Given the description of an element on the screen output the (x, y) to click on. 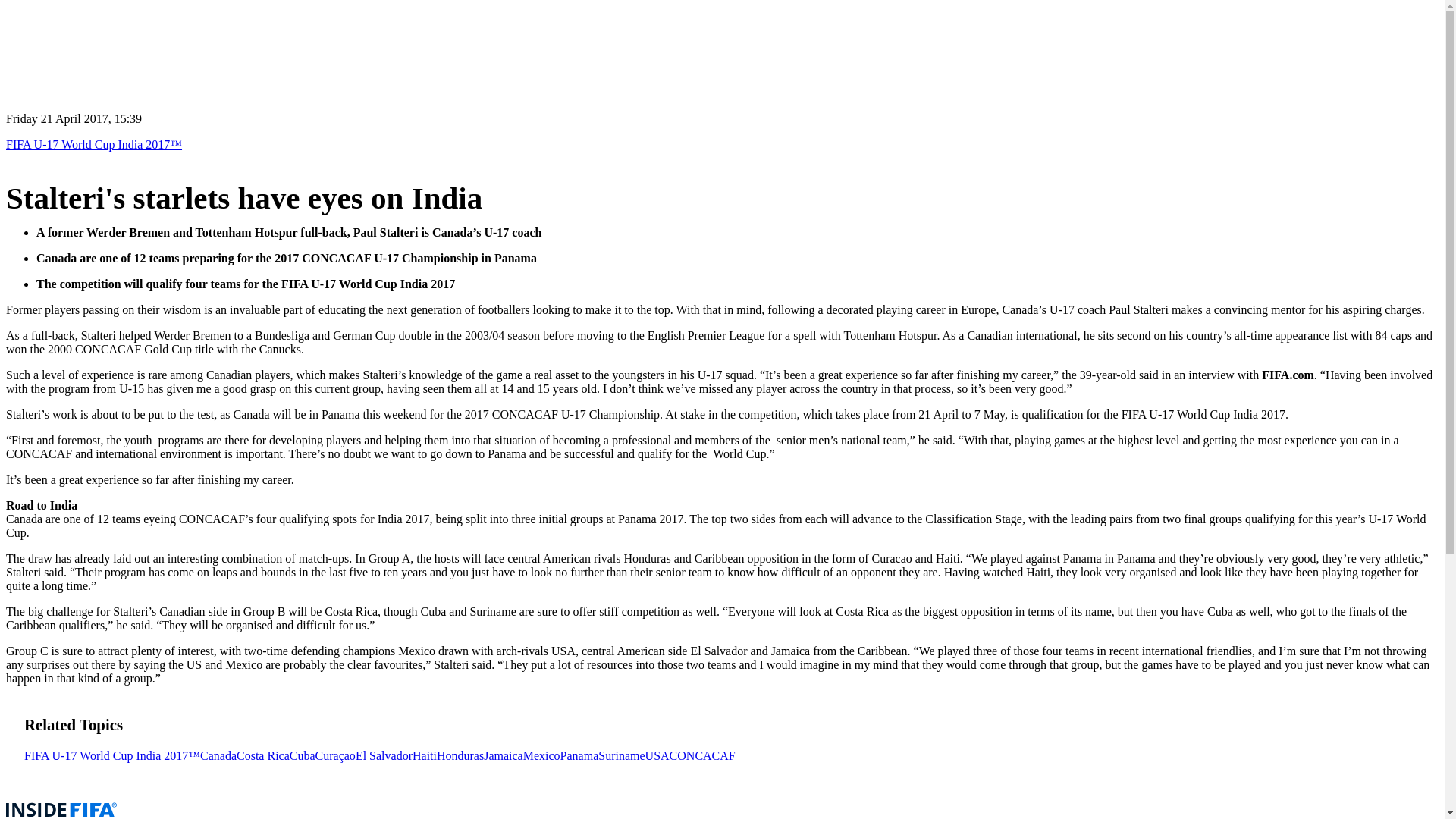
Cuba (302, 755)
Jamaica (502, 755)
USA (657, 755)
Canada (217, 755)
Panama (579, 755)
CONCACAF (702, 755)
Mexico (541, 755)
Honduras (459, 755)
Suriname (621, 755)
El Salvador (383, 755)
